Given the description of an element on the screen output the (x, y) to click on. 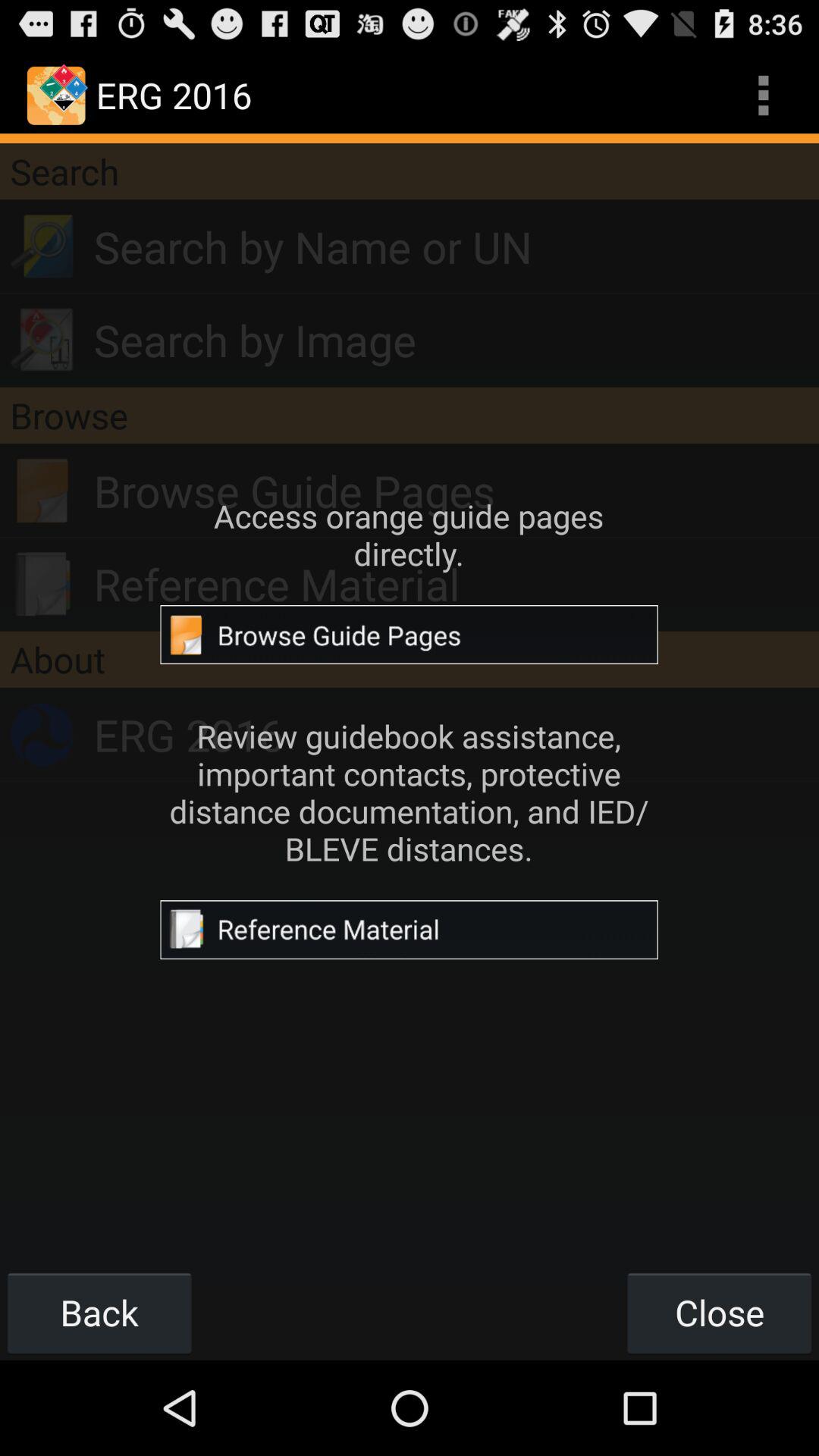
launch the icon to the left of close button (99, 1312)
